Given the description of an element on the screen output the (x, y) to click on. 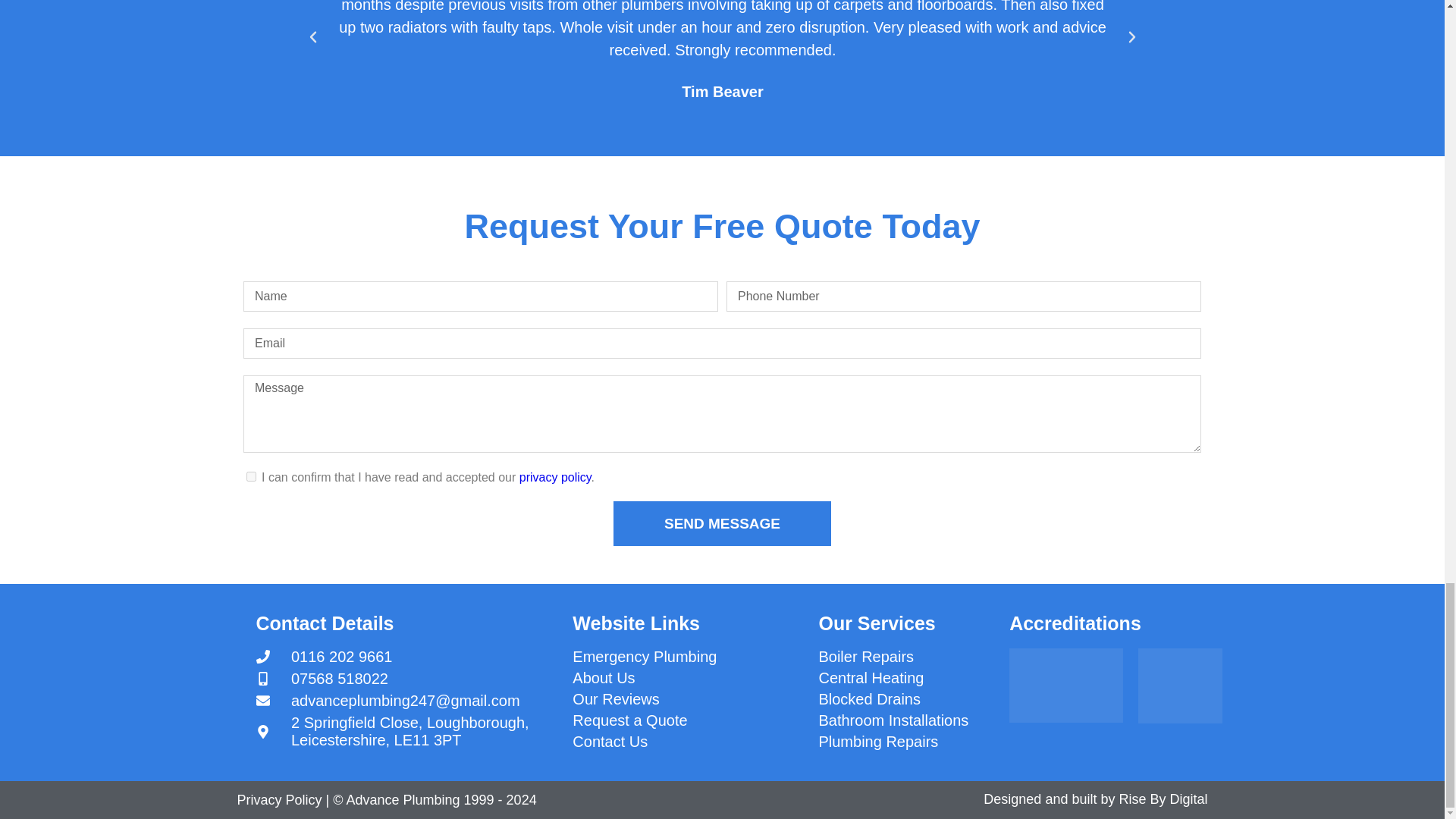
on (251, 476)
privacy policy (555, 477)
07568 518022 (406, 678)
Rise By Digital (1162, 798)
Privacy Policy (278, 799)
0116 202 9661 (406, 656)
Emergency Plumbing (687, 656)
About Us (687, 678)
Contact Us (687, 742)
SEND MESSAGE (721, 523)
Request a Quote (687, 720)
Our Reviews (687, 699)
